Given the description of an element on the screen output the (x, y) to click on. 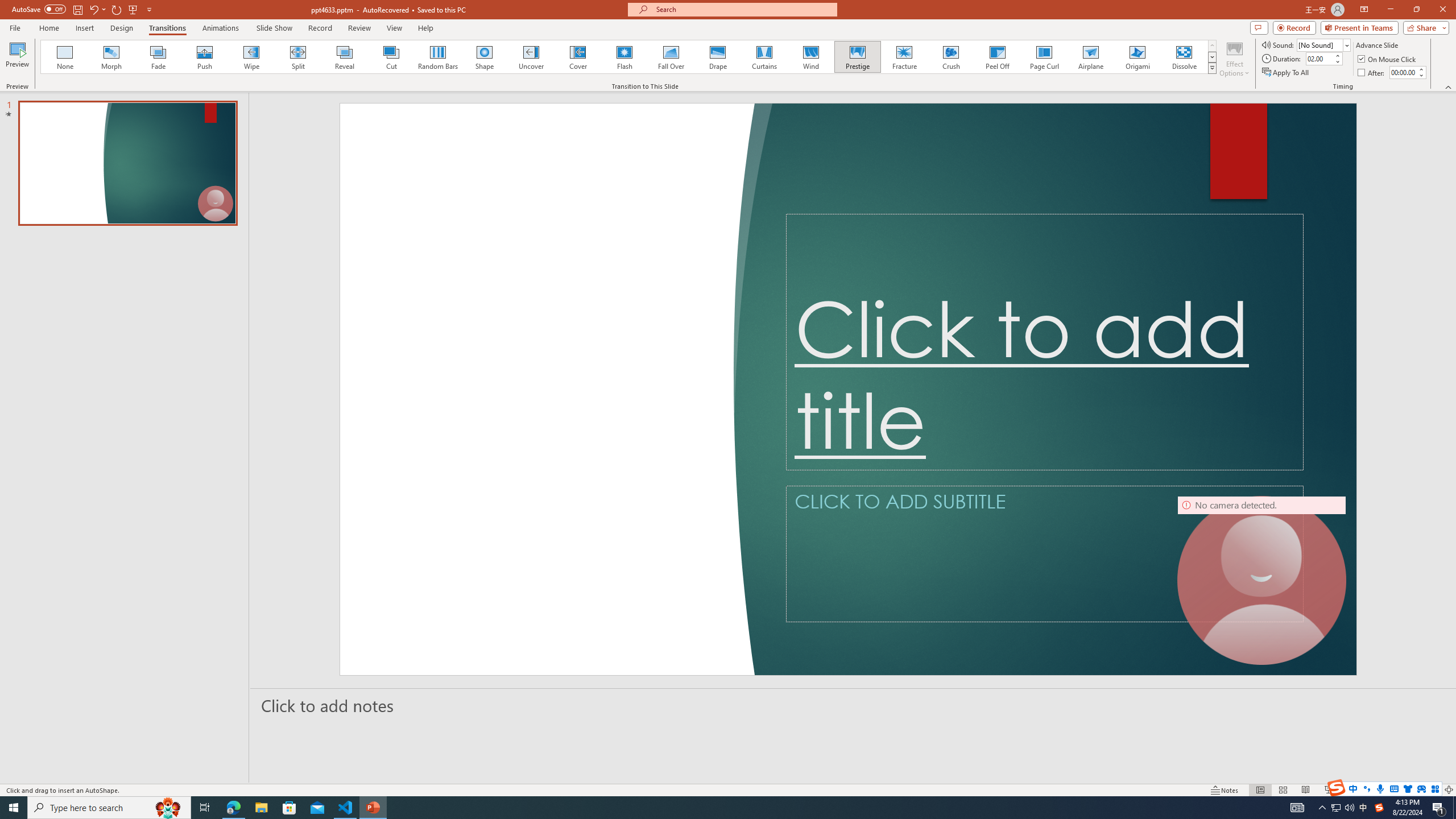
Transition Effects (1212, 67)
Zoom 140% (1430, 790)
Airplane (1090, 56)
AutomationID: AnimationTransitionGallery (628, 56)
Push (205, 56)
Random Bars (437, 56)
Duration (1319, 58)
